Given the description of an element on the screen output the (x, y) to click on. 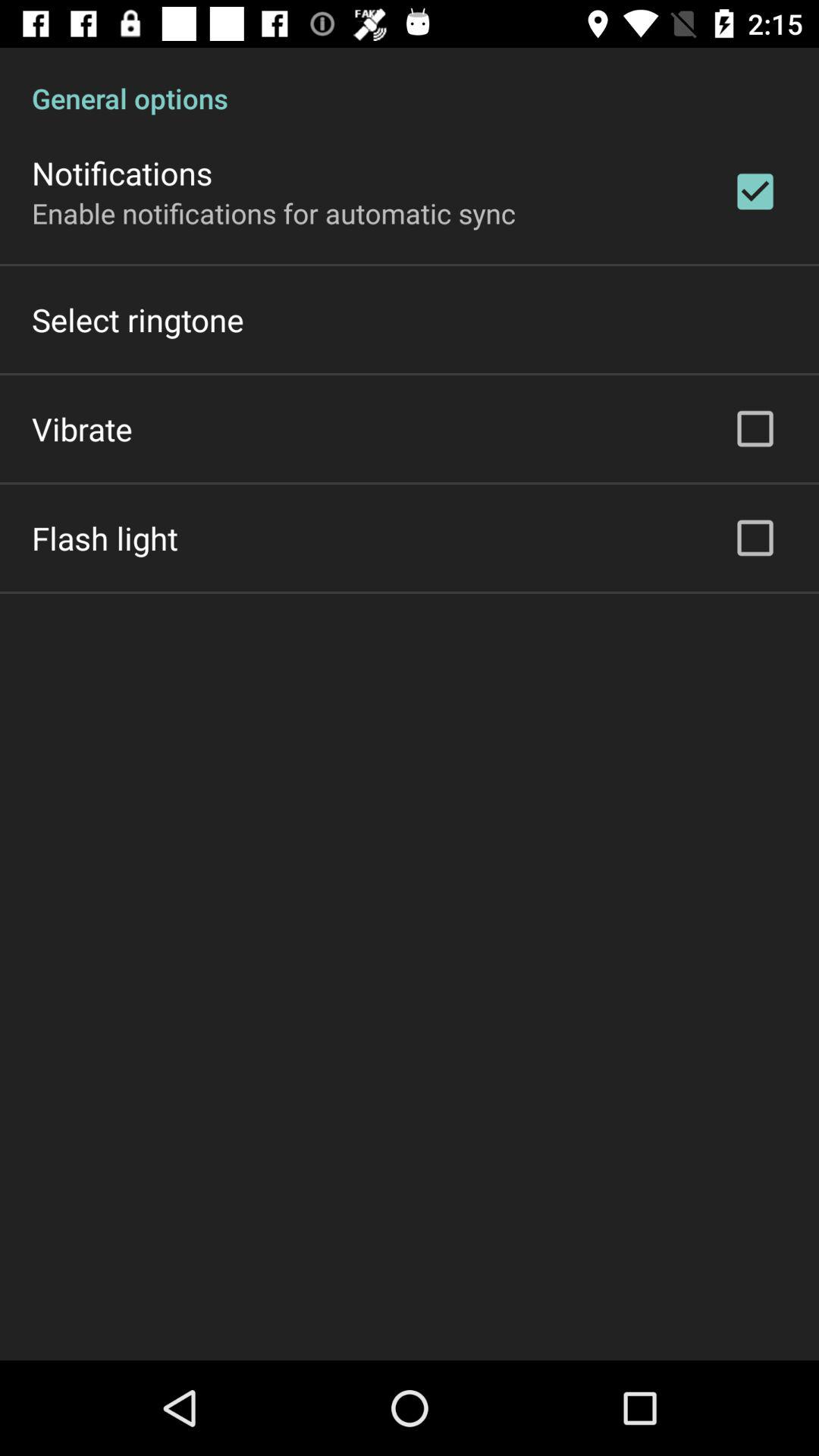
select item above the vibrate icon (137, 319)
